Given the description of an element on the screen output the (x, y) to click on. 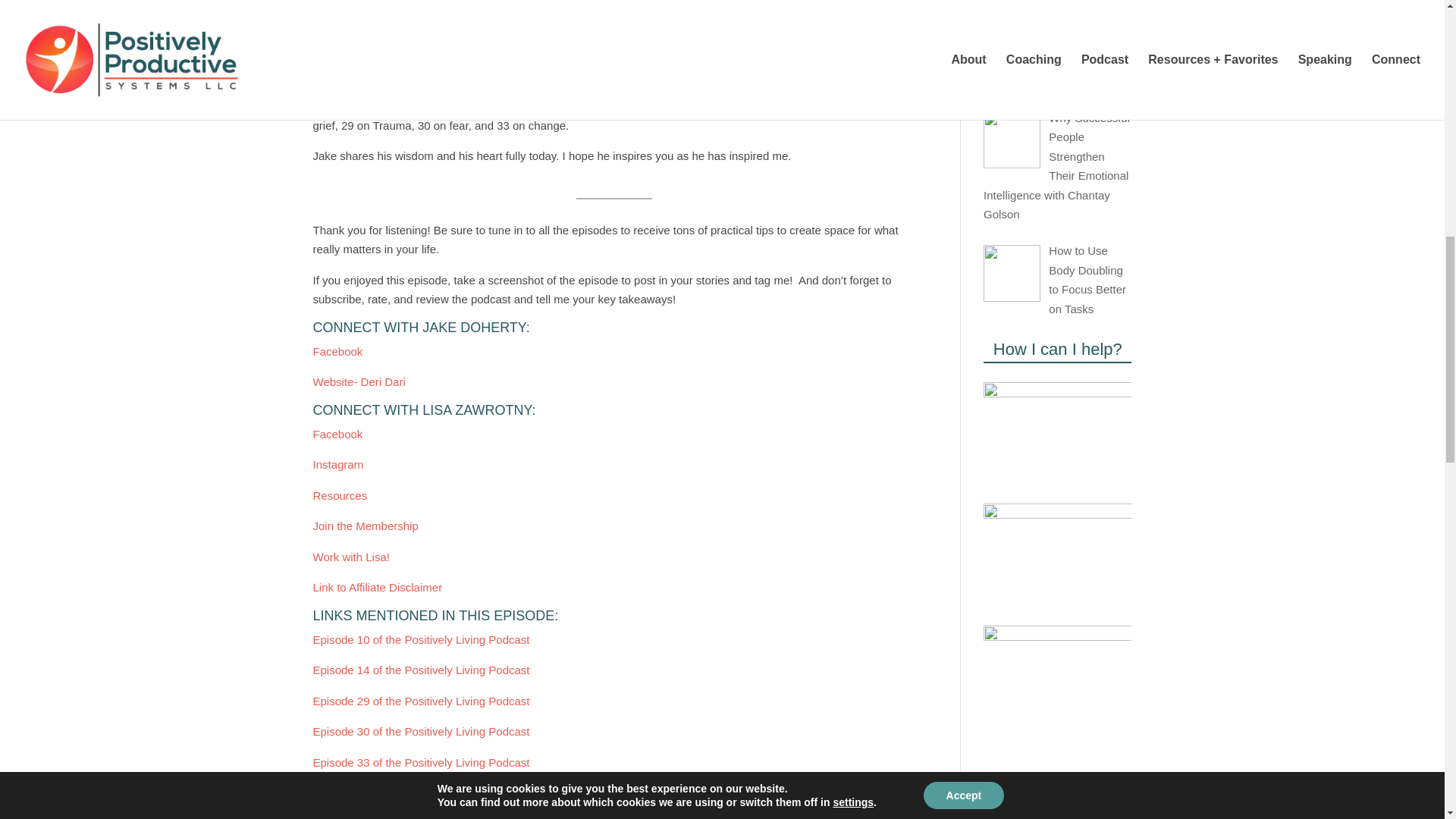
Volume 2 (503, 818)
Episode 33 of the Positively Living Podcast (421, 761)
Episode 14 of the Positively Living Podcast (421, 669)
Facebook (337, 350)
Link to Affiliate Disclaimer (377, 586)
Episode 10 of the Positively Living Podcast (421, 638)
Episode 30 of the Positively Living Podcast (421, 730)
Work with Lisa!  (353, 556)
Volume 1 (441, 818)
Facebook (337, 433)
Slack App (337, 792)
Website- Deri Dari  (360, 381)
Join the Membership (365, 525)
Resources (339, 494)
Episode 29 of the Positively Living Podcast (421, 700)
